Given the description of an element on the screen output the (x, y) to click on. 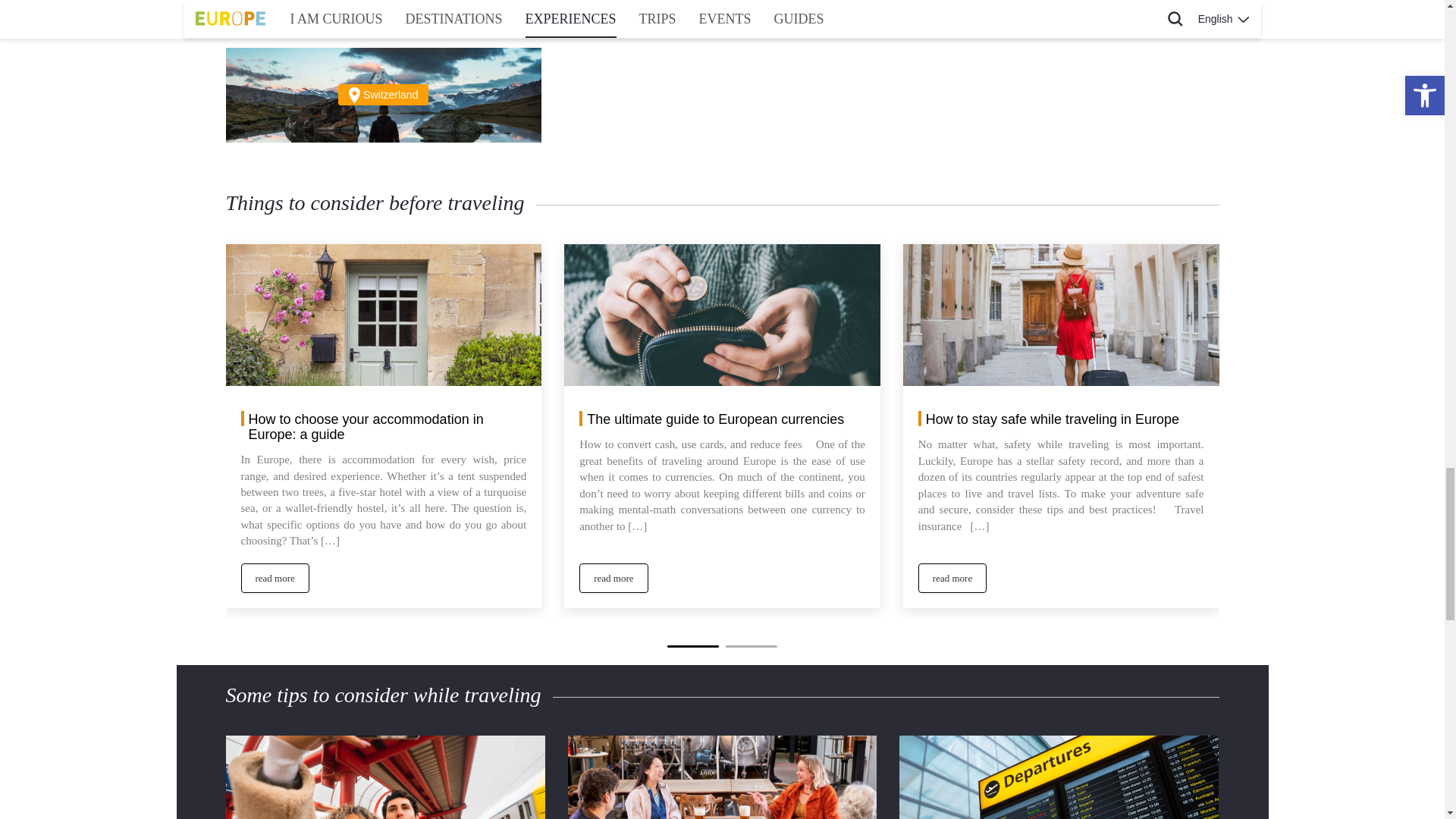
Switzerland (383, 94)
